Given the description of an element on the screen output the (x, y) to click on. 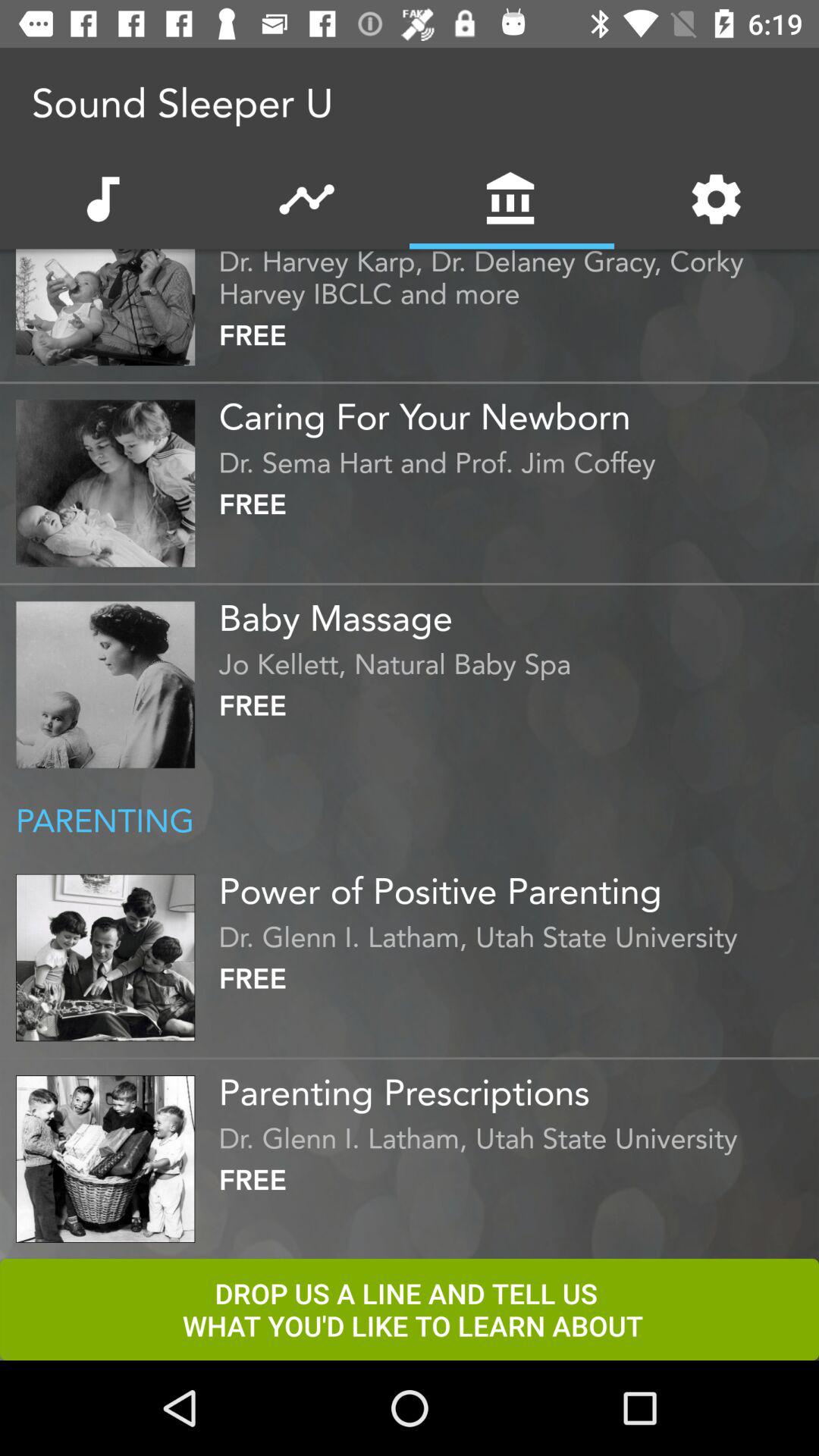
select the item below parenting icon (515, 885)
